Given the description of an element on the screen output the (x, y) to click on. 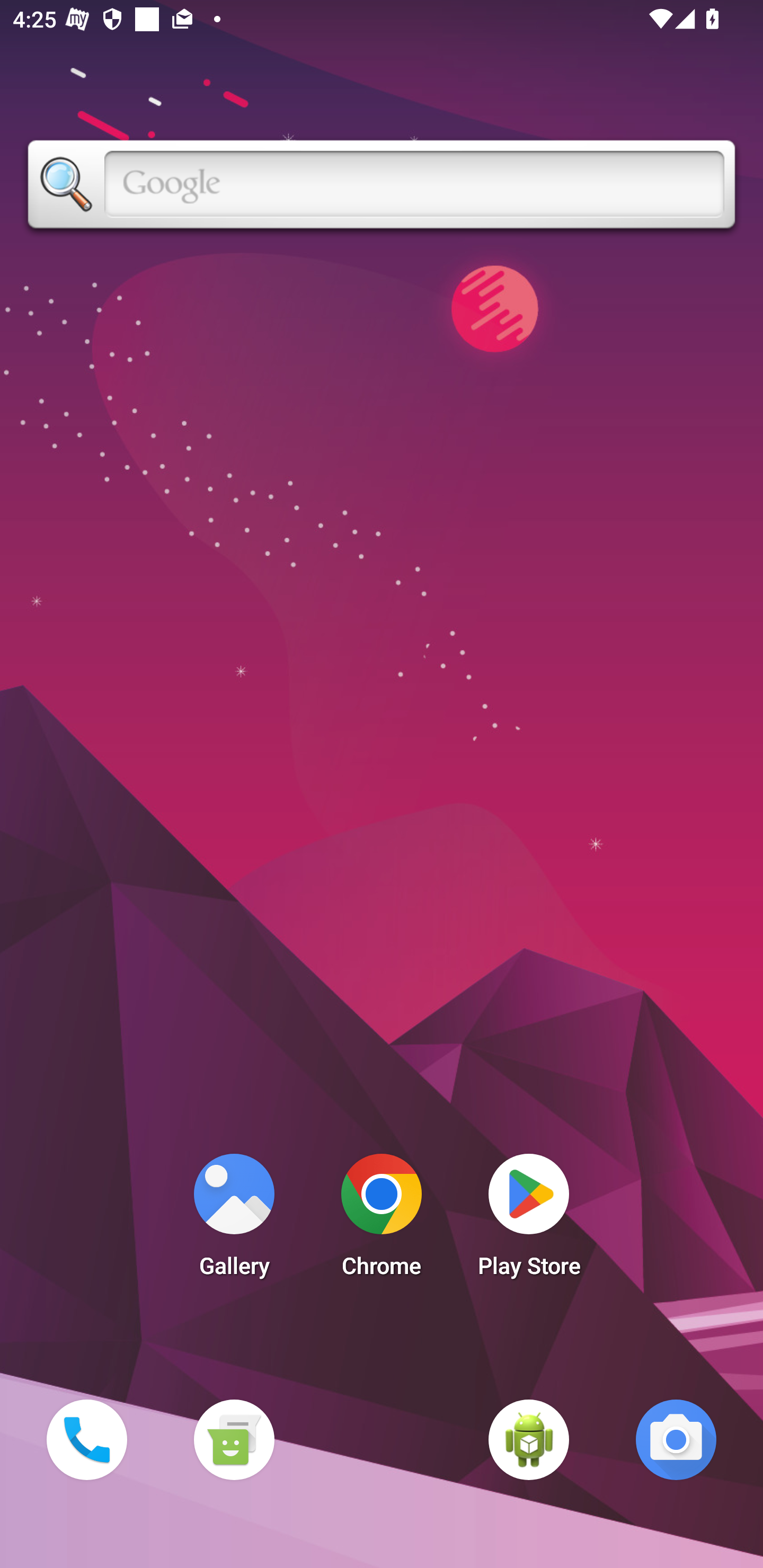
Gallery (233, 1220)
Chrome (381, 1220)
Play Store (528, 1220)
Phone (86, 1439)
Messaging (233, 1439)
WebView Browser Tester (528, 1439)
Camera (676, 1439)
